Given the description of an element on the screen output the (x, y) to click on. 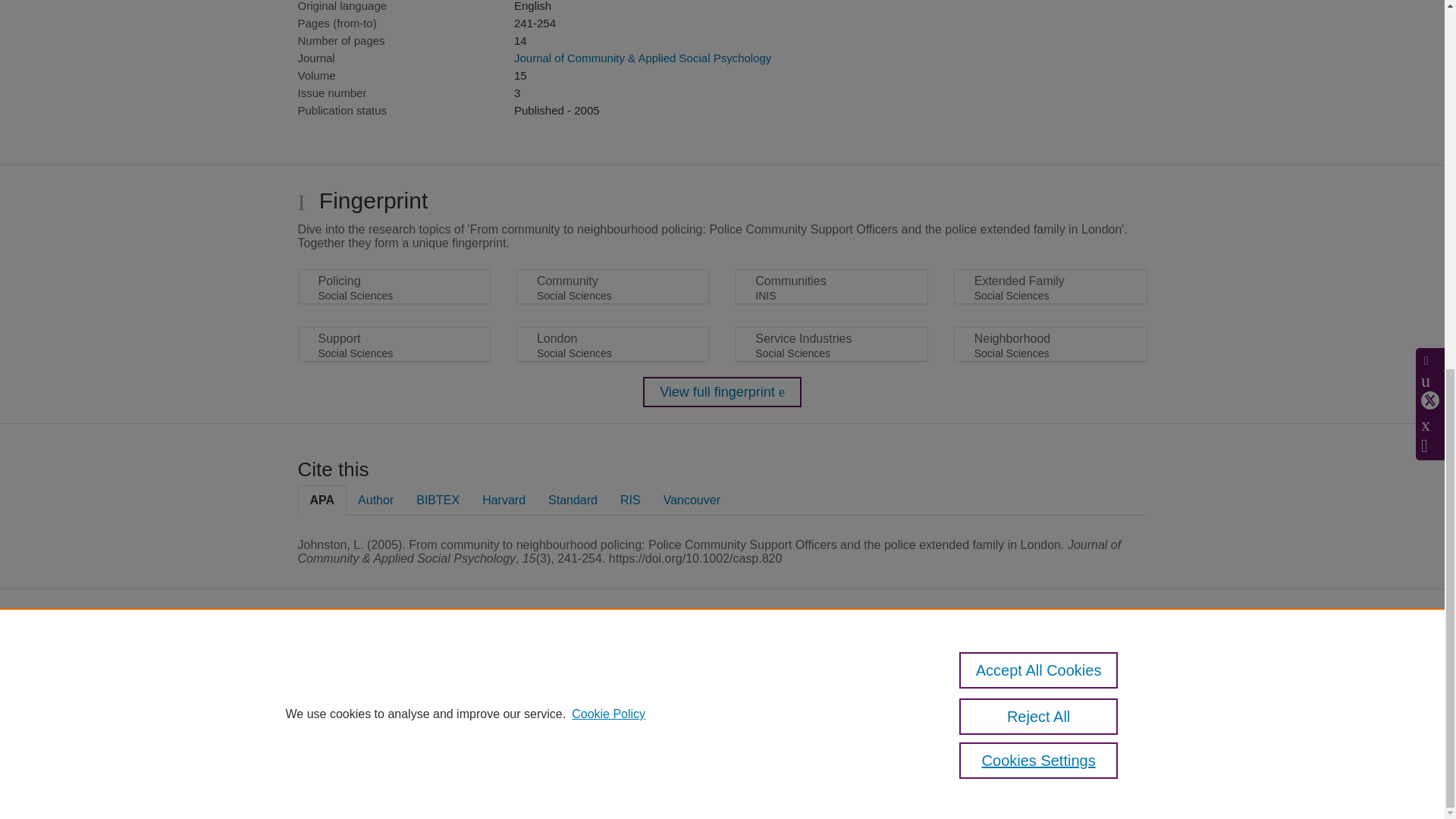
Scopus (547, 664)
Pure (515, 664)
View full fingerprint (722, 391)
